Given the description of an element on the screen output the (x, y) to click on. 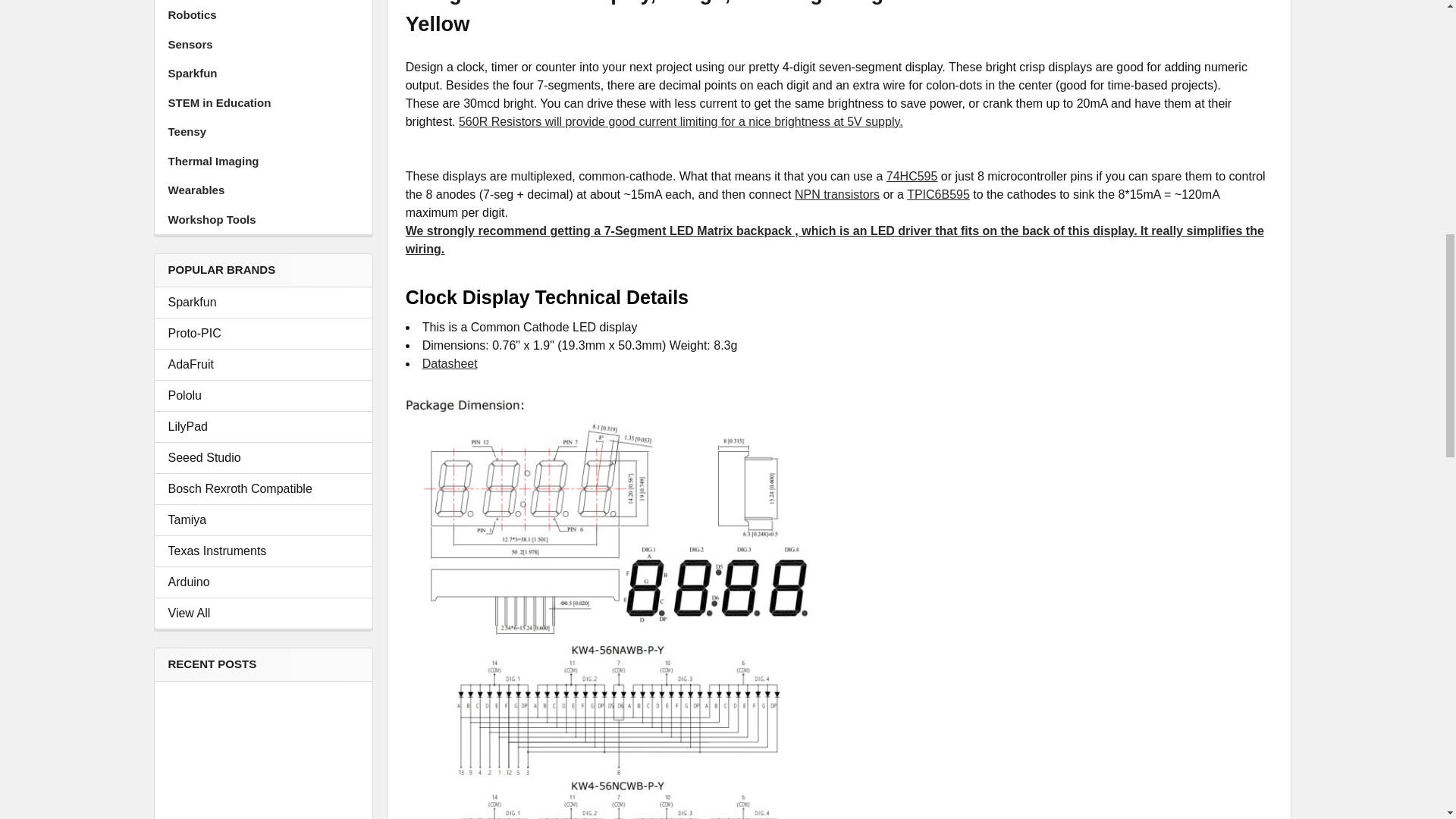
AdaFruit (263, 364)
Sparkfun (263, 302)
Proto-PIC (263, 333)
Tamiya (263, 520)
Texas Instruments (263, 551)
LilyPad (263, 426)
Seeed Studio (263, 457)
Bosch Rexroth Compatible (263, 488)
Arduino (263, 582)
Pololu (263, 395)
